Given the description of an element on the screen output the (x, y) to click on. 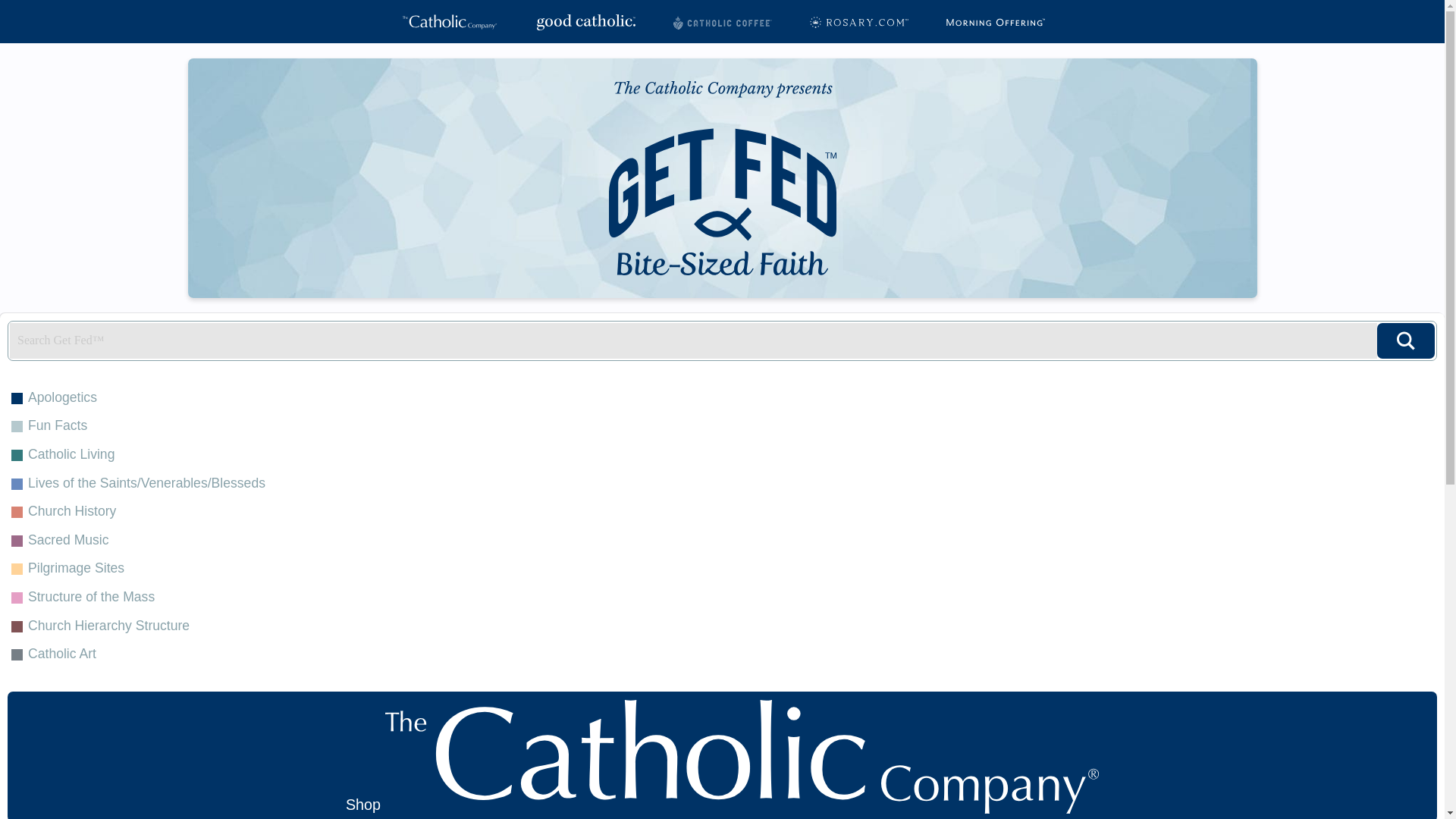
Church Hierarchy Structure (722, 624)
Catholic Art (722, 654)
Join (993, 375)
Sacred Music (722, 540)
Catholic Living (722, 454)
Structure of the Mass (722, 597)
Apologetics (722, 398)
Fun Facts (722, 425)
Church History (722, 511)
Pilgrimage Sites (722, 568)
